Given the description of an element on the screen output the (x, y) to click on. 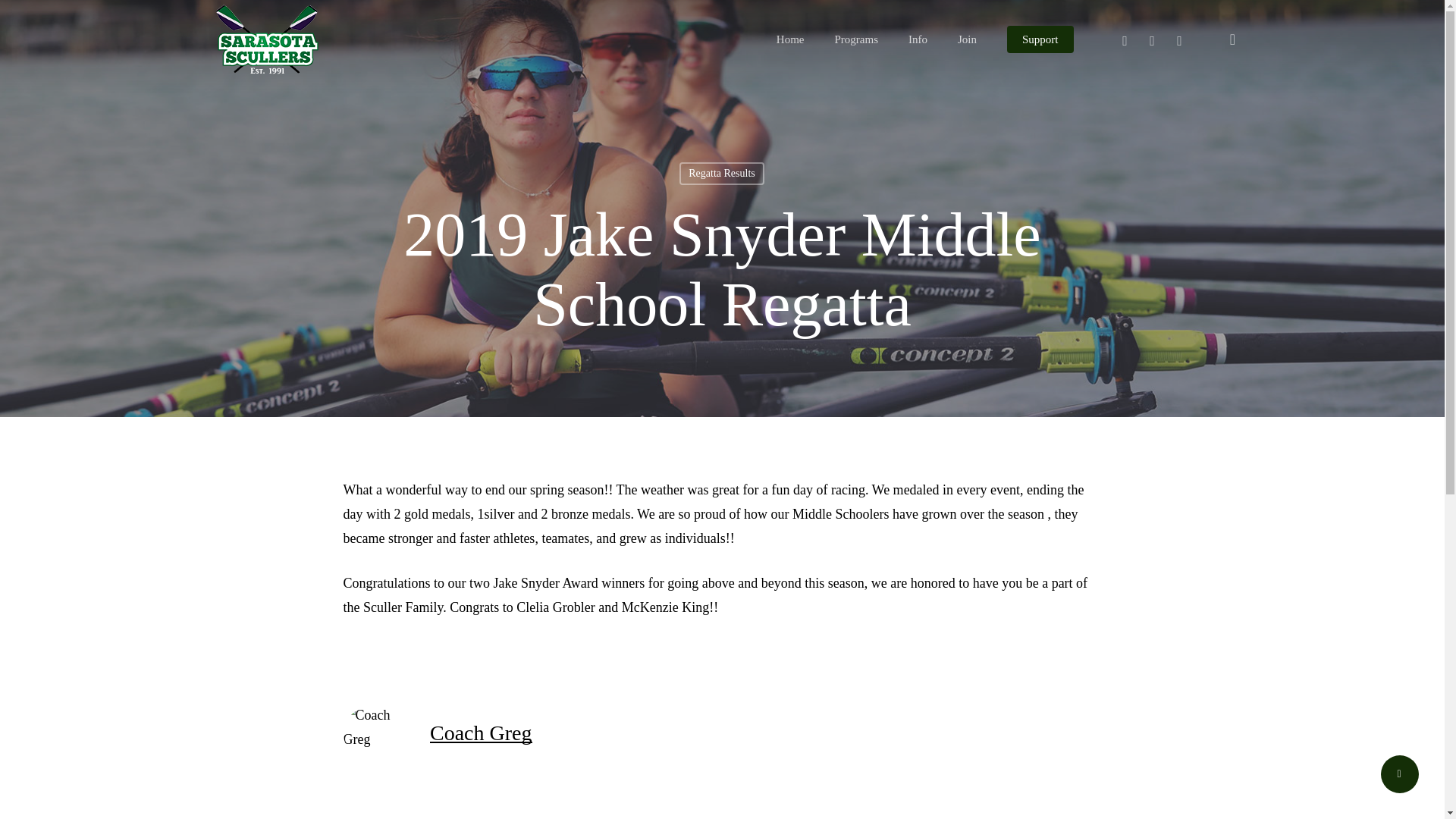
twitter (1125, 39)
Home (790, 39)
facebook (1152, 39)
Support (1040, 39)
Regatta Results (721, 173)
Info (917, 39)
Join (967, 39)
search (1232, 39)
instagram (1179, 39)
Programs (855, 39)
